Given the description of an element on the screen output the (x, y) to click on. 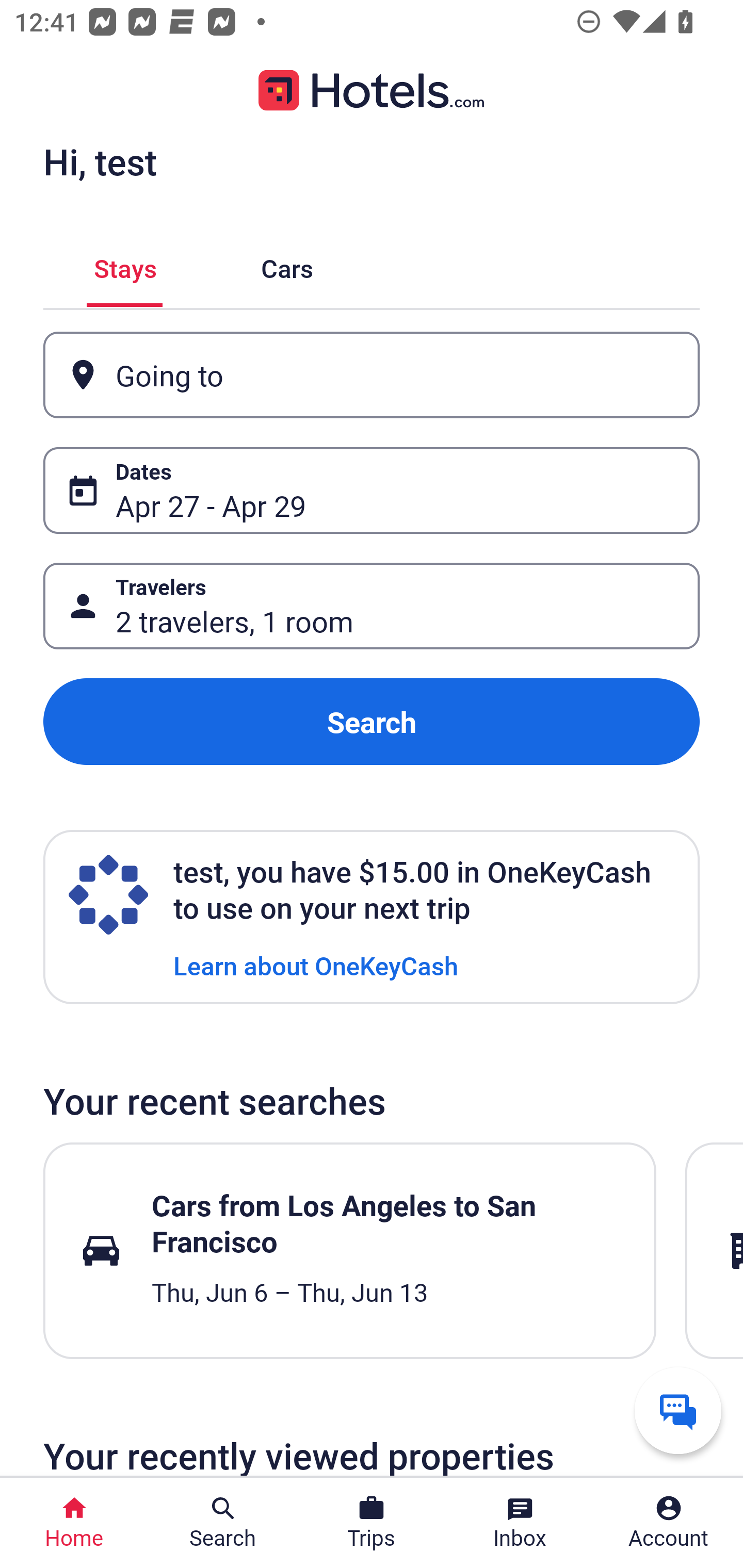
Hi, test (99, 161)
Cars (286, 265)
Going to Button (371, 375)
Dates Button Apr 27 - Apr 29 (371, 489)
Travelers Button 2 travelers, 1 room (371, 605)
Search (371, 721)
Learn about OneKeyCash Learn about OneKeyCash Link (315, 964)
Get help from a virtual agent (677, 1410)
Search Search Button (222, 1522)
Trips Trips Button (371, 1522)
Inbox Inbox Button (519, 1522)
Account Profile. Button (668, 1522)
